Given the description of an element on the screen output the (x, y) to click on. 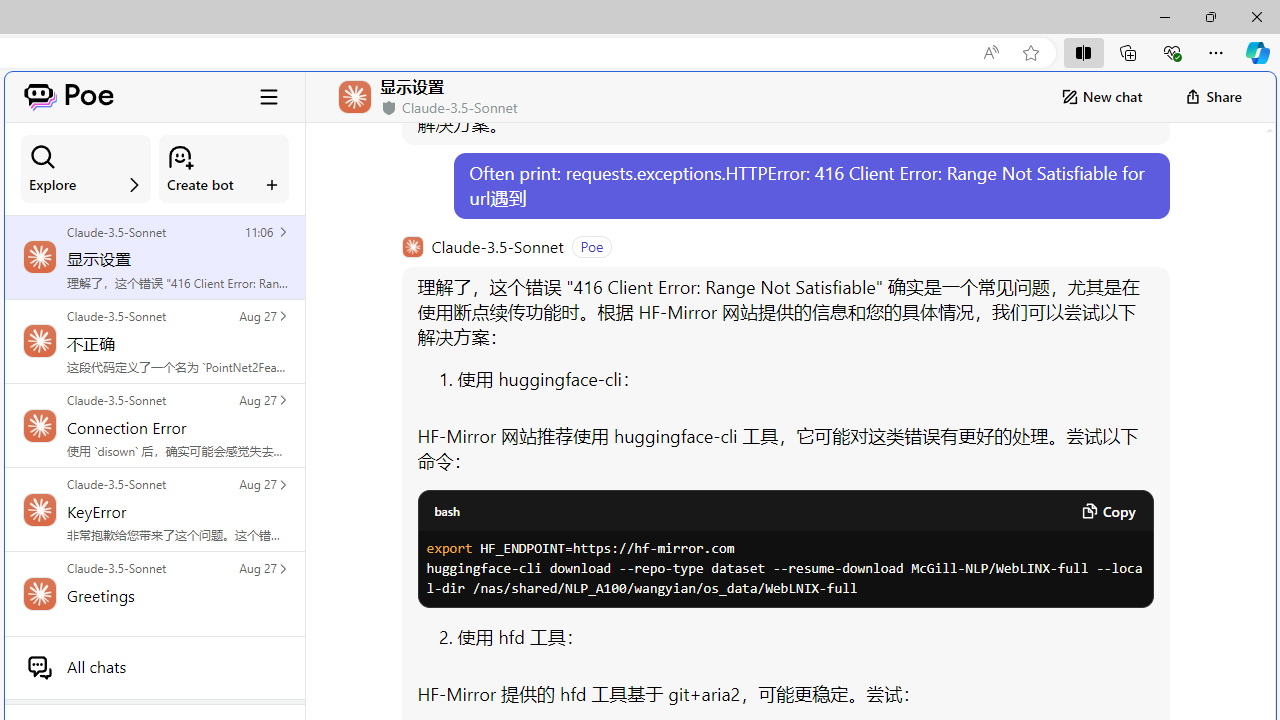
Class: ChatHistoryListItem_chevronIcon__zJZSN (282, 568)
Share (1213, 96)
Bot image for Claude-3.5-Sonnet (411, 246)
Create bot (223, 169)
Class: ManageBotsCardSection_labelIcon__EjW_j (271, 183)
Class: ManageBotsCardSection_searchIcon__laGLi (43, 157)
Toggle sidebar collapse (269, 96)
Copy (1107, 511)
Poe (68, 96)
Class: ChatPrivacyIndicator_shieldIcon__4JelG (389, 108)
